Given the description of an element on the screen output the (x, y) to click on. 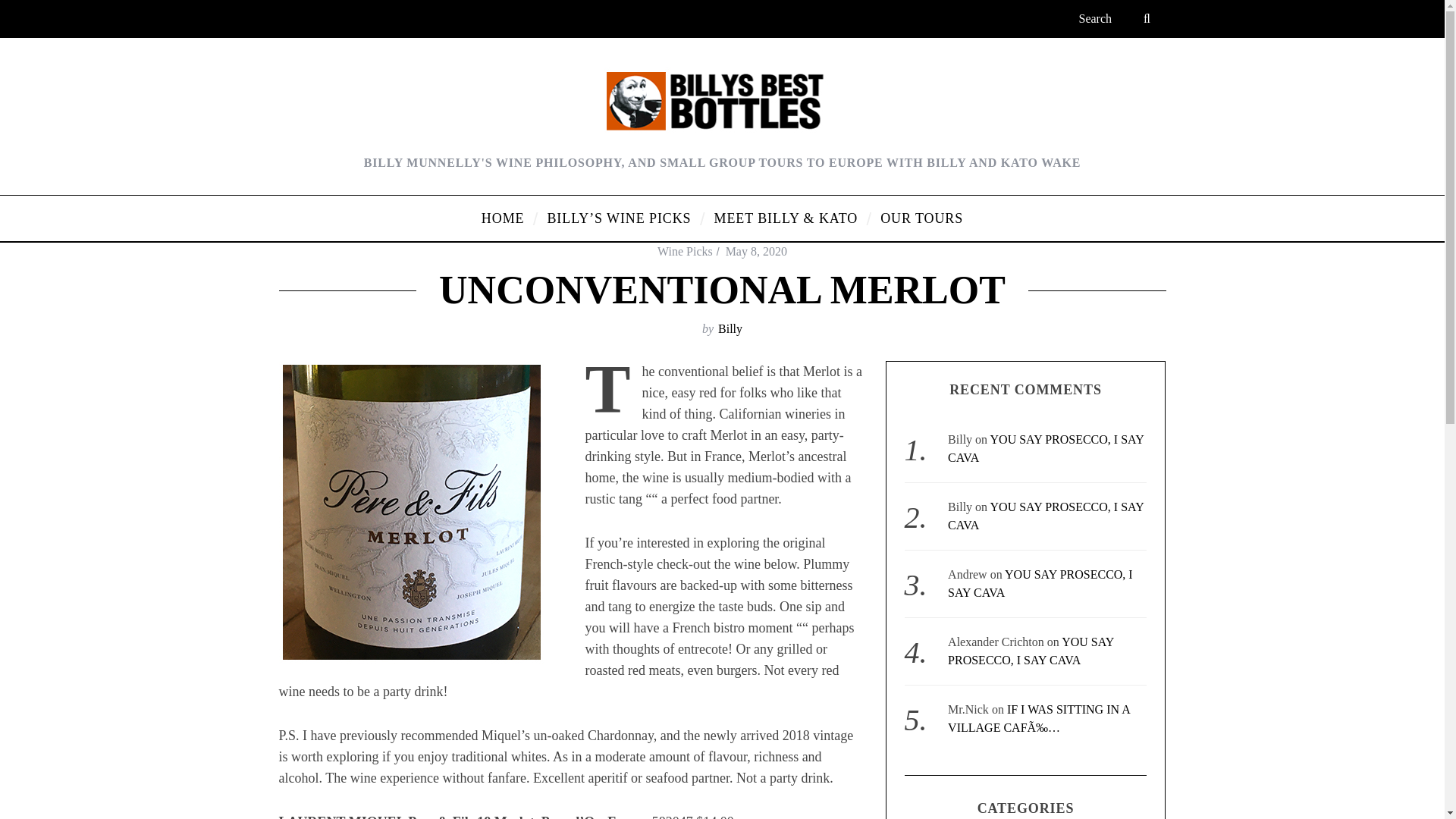
Search (1116, 18)
Billy (729, 328)
OUR TOURS (921, 217)
Wine Picks (685, 250)
